Given the description of an element on the screen output the (x, y) to click on. 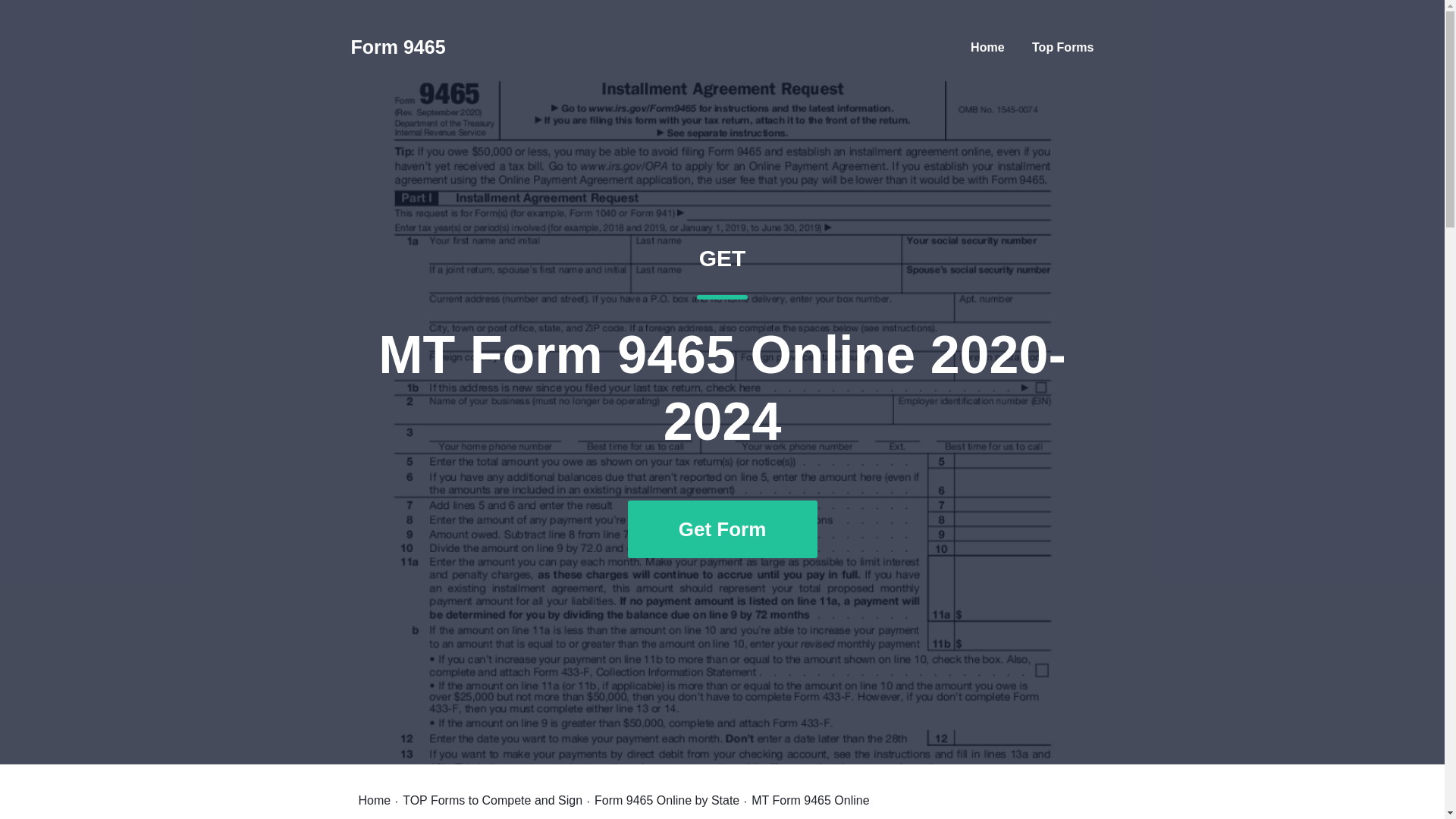
Form 9465 Online by State (492, 800)
Form 9465 (666, 800)
Home (397, 46)
Top Forms (987, 47)
Home (1062, 47)
